Given the description of an element on the screen output the (x, y) to click on. 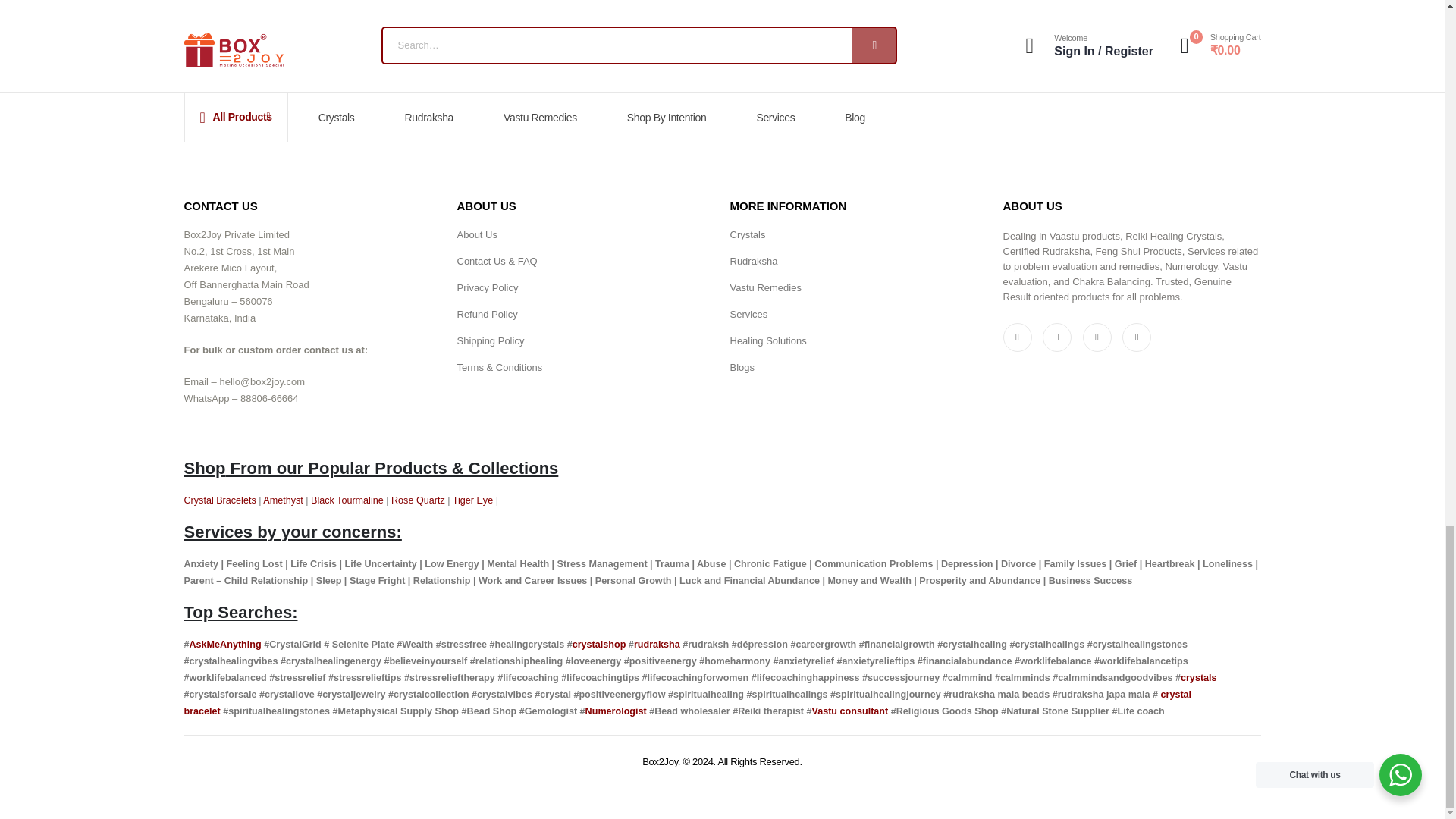
Facebook (1016, 337)
Youtube (1056, 337)
